Given the description of an element on the screen output the (x, y) to click on. 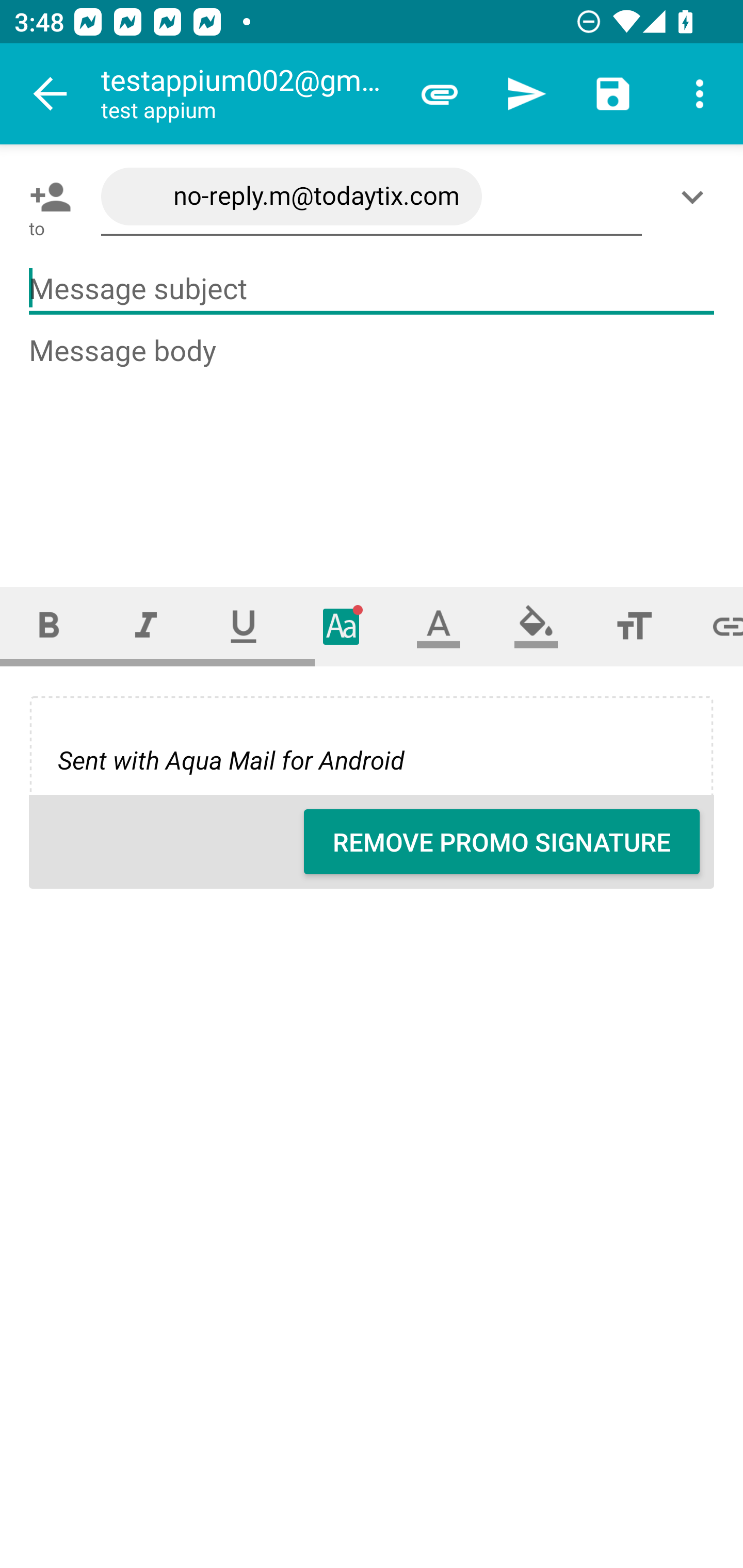
Navigate up (50, 93)
testappium002@gmail.com test appium (248, 93)
Attach (439, 93)
Send (525, 93)
Save (612, 93)
More options (699, 93)
no-reply.m@todaytix.com,  (371, 197)
Pick contact: To (46, 196)
Show/Add CC/BCC (696, 196)
Message subject (371, 288)
Message body (372, 442)
Bold (48, 626)
Italic (145, 626)
Underline (243, 626)
Typeface (font) (341, 626)
Text color (438, 626)
Fill color (536, 626)
Font size (633, 626)
REMOVE PROMO SIGNATURE (501, 841)
